Given the description of an element on the screen output the (x, y) to click on. 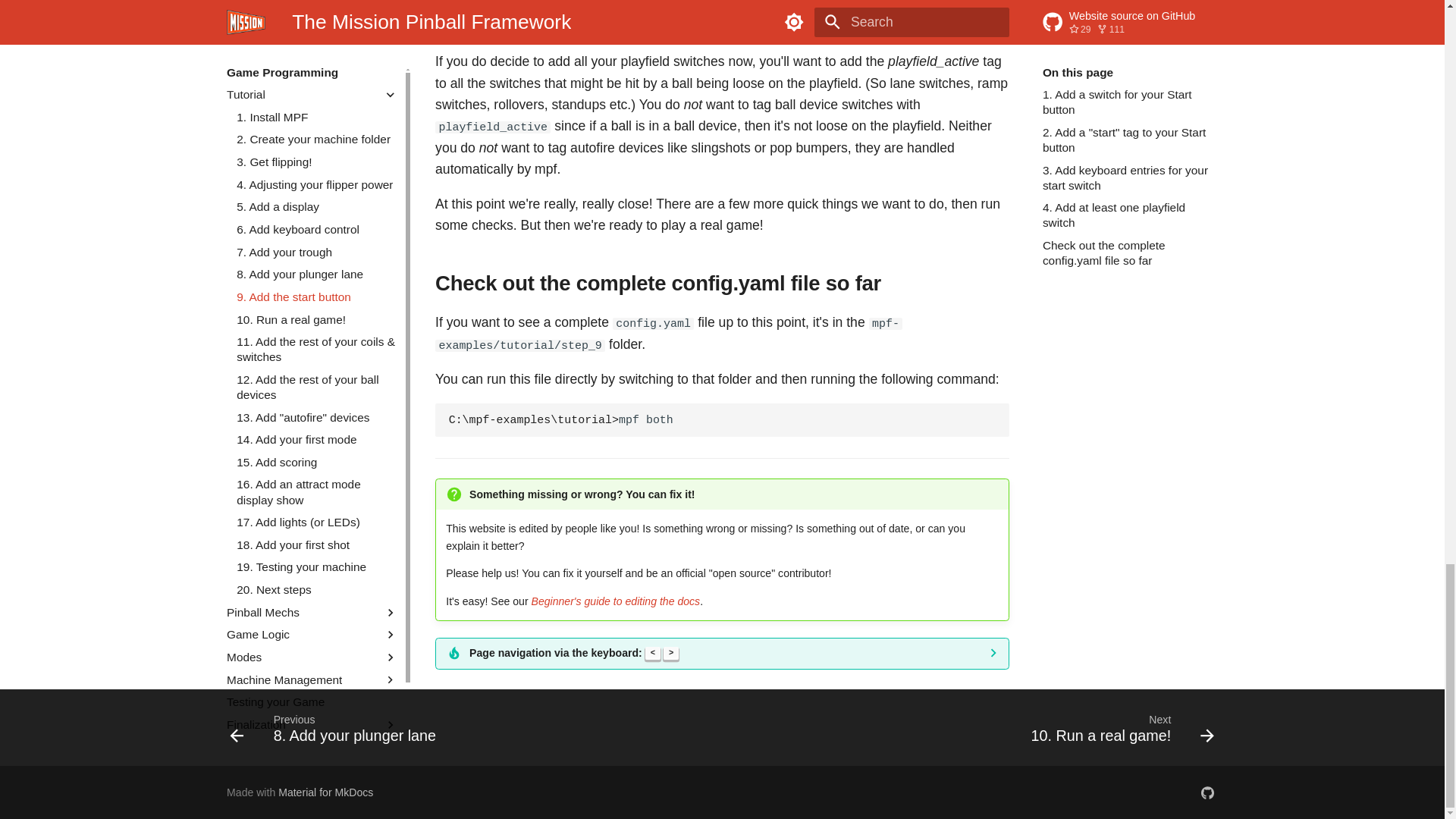
github.com (1207, 792)
